Given the description of an element on the screen output the (x, y) to click on. 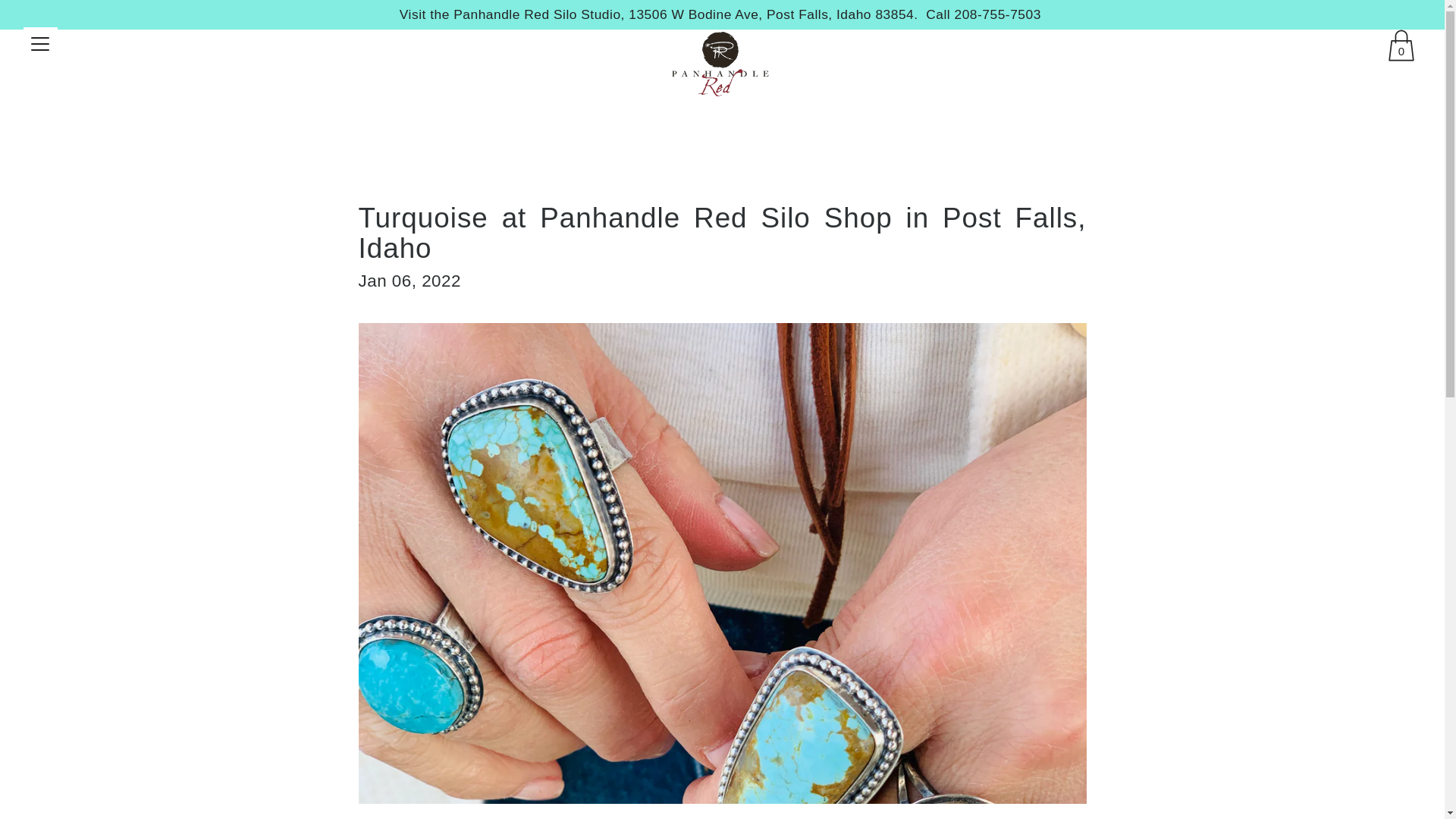
Panhandle Red (720, 64)
0 (1402, 47)
